Given the description of an element on the screen output the (x, y) to click on. 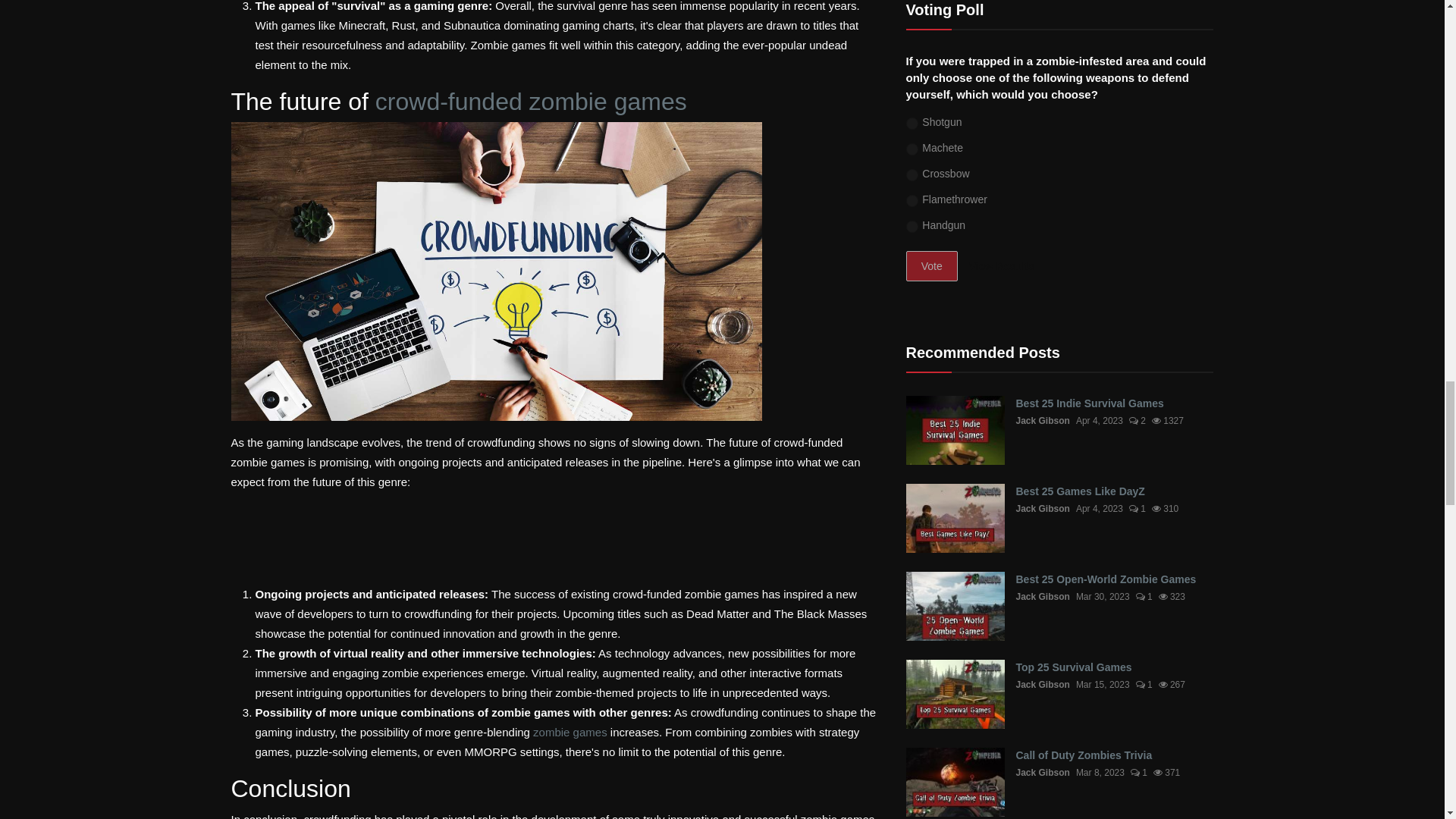
Zombie games on Kickstarter right now. (531, 101)
Zombie Game Discord Server (555, 538)
A Wikipedia list of zombie games that have been released. (569, 731)
